Given the description of an element on the screen output the (x, y) to click on. 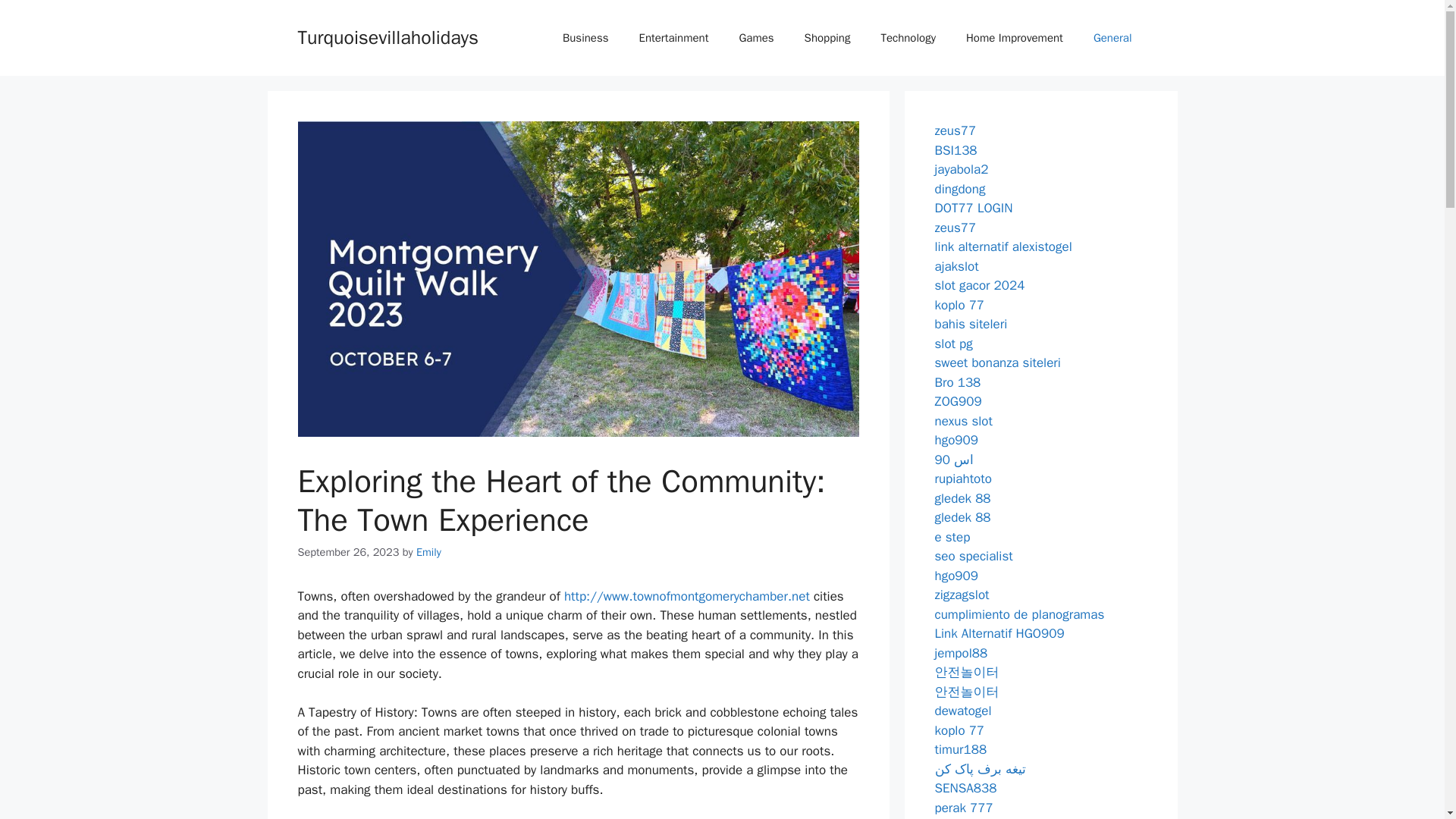
General (1112, 37)
Shopping (827, 37)
rupiahtoto (962, 478)
zeus77 (954, 227)
nexus slot (962, 420)
Emily (428, 551)
hgo909 (955, 439)
sweet bonanza siteleri (996, 362)
ZOG909 (957, 401)
Technology (907, 37)
